Given the description of an element on the screen output the (x, y) to click on. 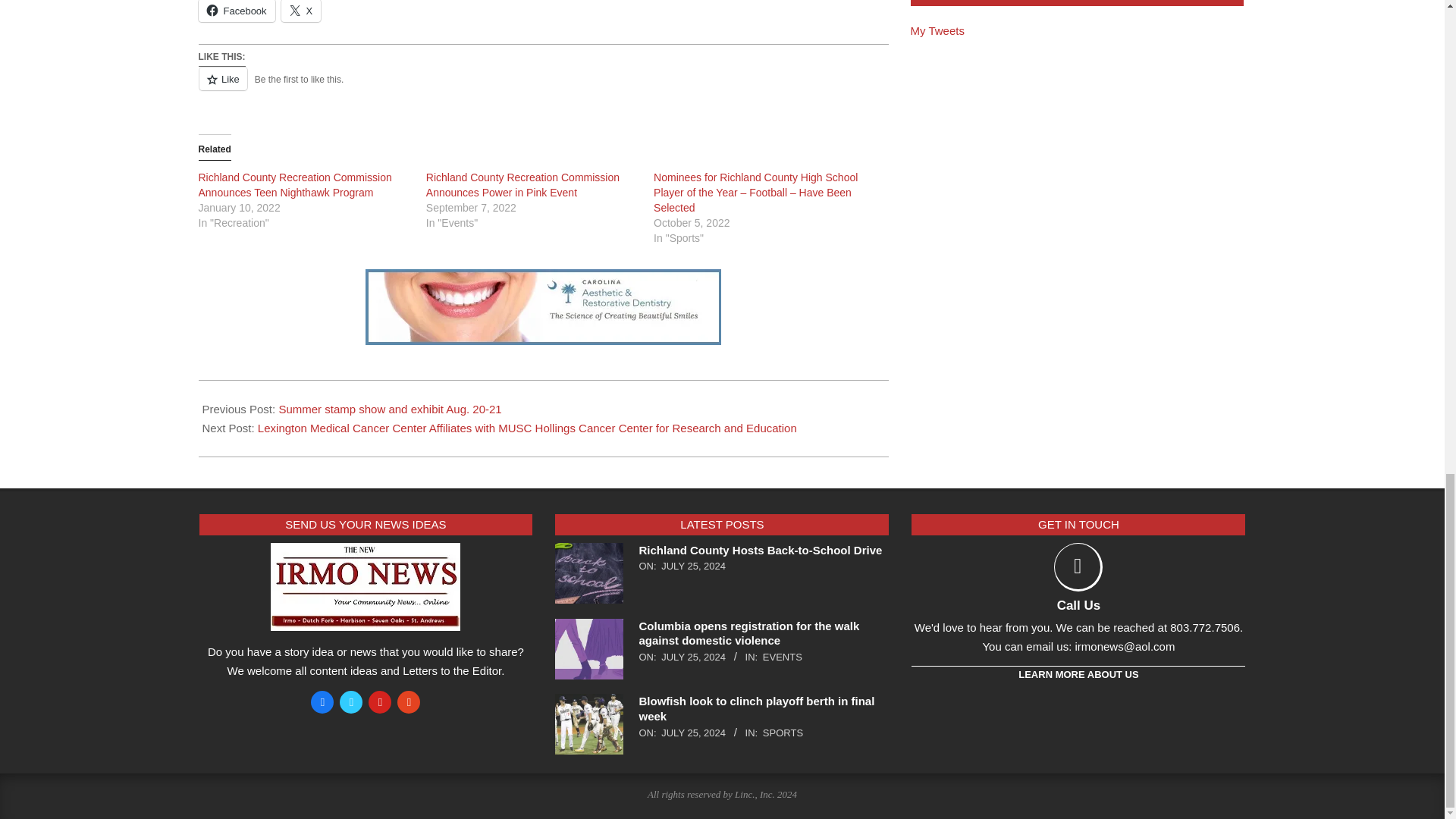
Thursday, July 25, 2024, 9:38 am (693, 732)
Click to share on X (301, 11)
X (301, 11)
Click to share on Facebook (236, 11)
Facebook (236, 11)
Thursday, July 25, 2024, 1:51 pm (693, 565)
Thursday, July 25, 2024, 10:30 am (693, 656)
Like or Reblog (543, 87)
